Given the description of an element on the screen output the (x, y) to click on. 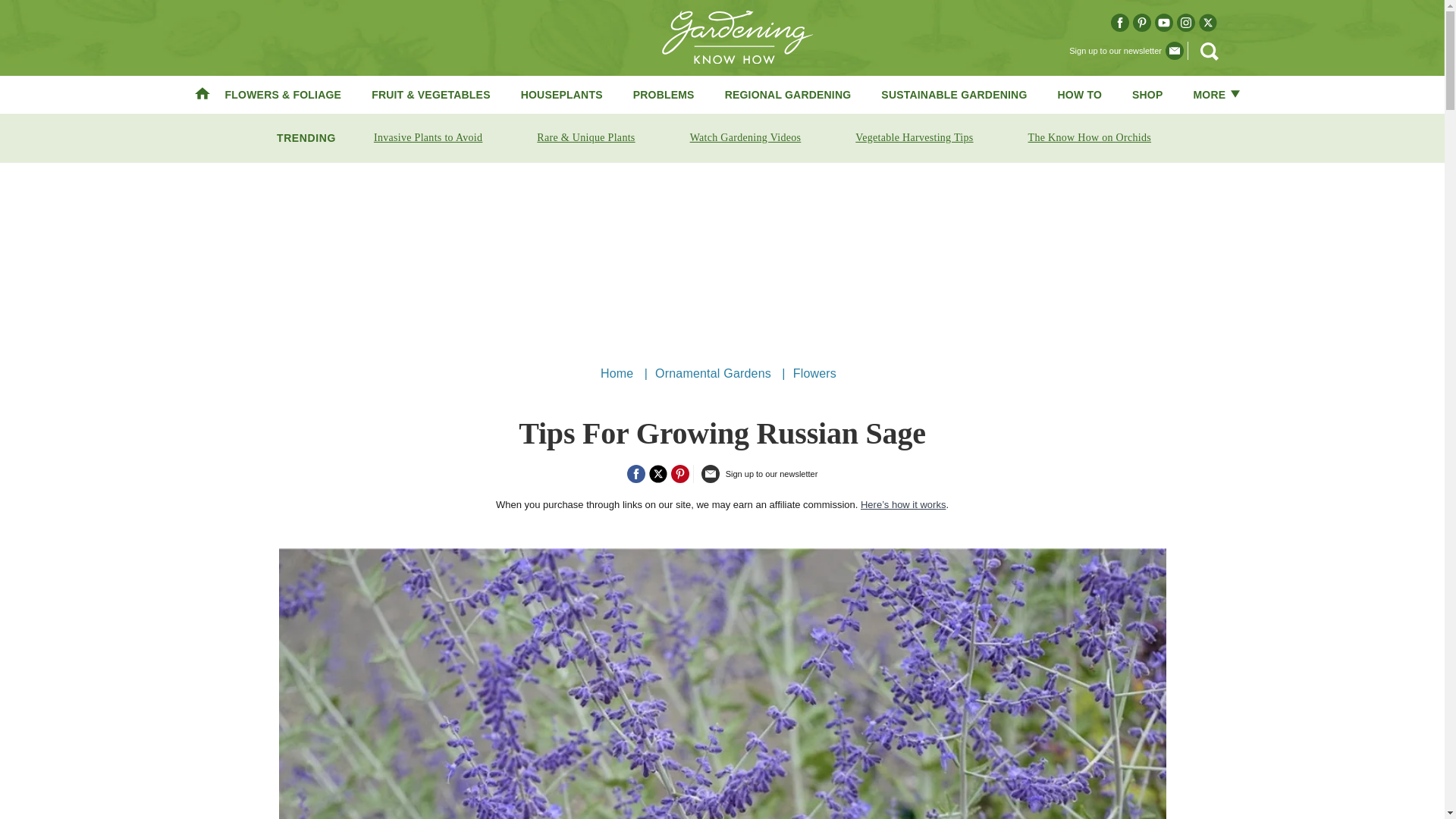
REGIONAL GARDENING (788, 94)
PROBLEMS (663, 94)
SUSTAINABLE GARDENING (953, 94)
HOUSEPLANTS (561, 94)
